Given the description of an element on the screen output the (x, y) to click on. 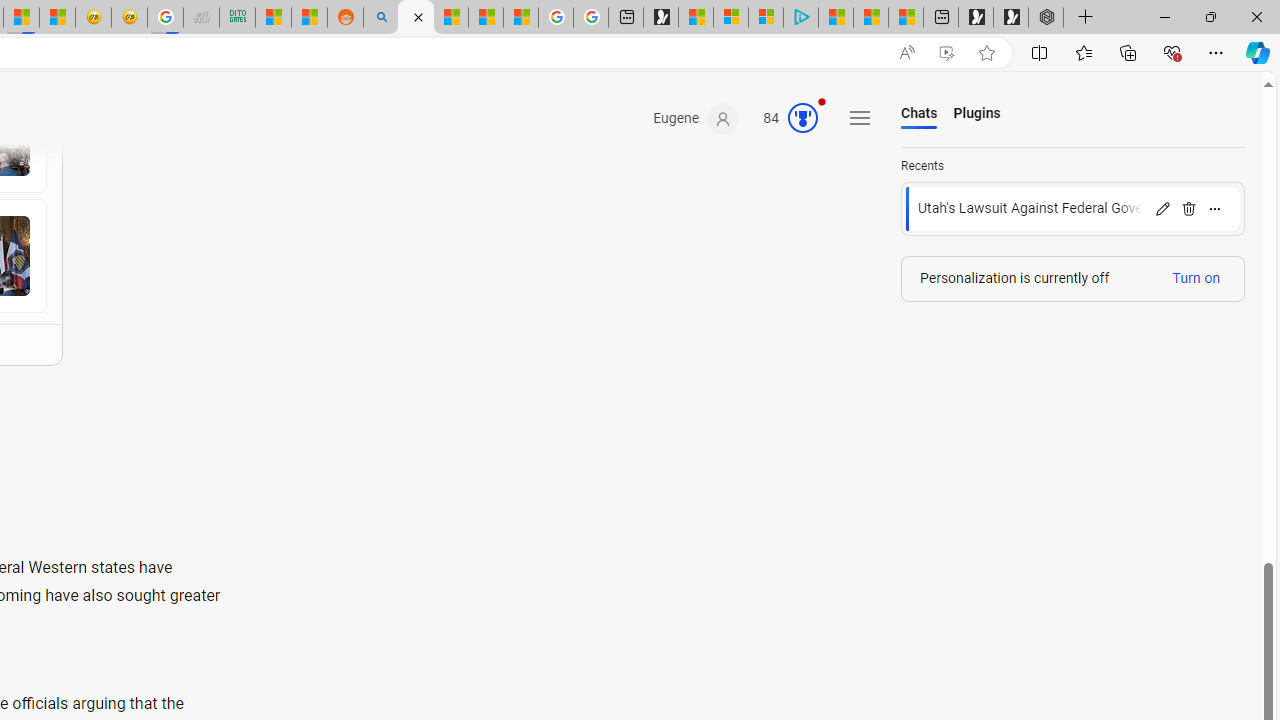
Eugene (695, 119)
These 3 Stocks Pay You More Than 5% to Own Them (905, 17)
AutomationID: rh_meter (803, 117)
Settings and quick links (859, 117)
